Given the description of an element on the screen output the (x, y) to click on. 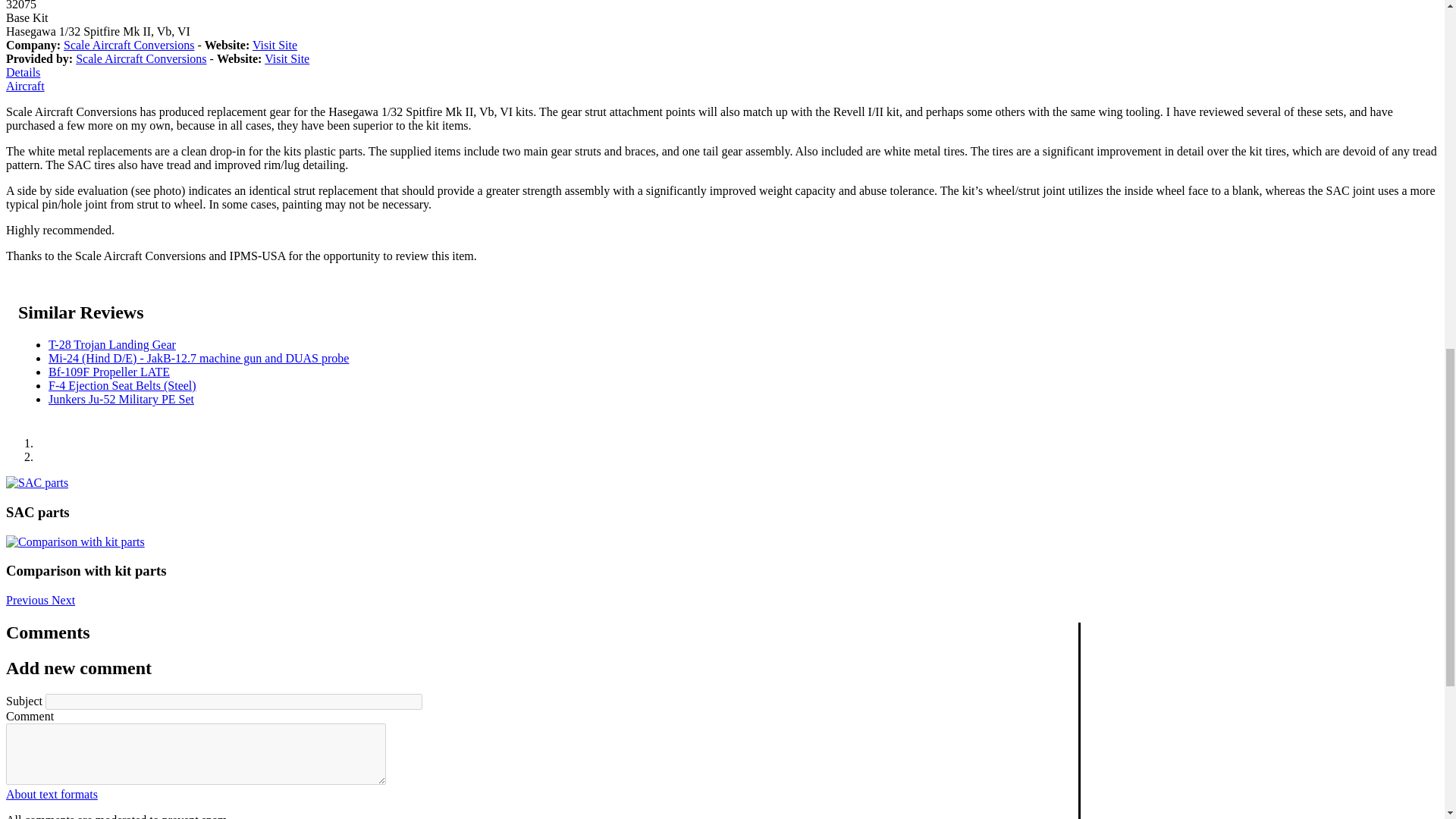
Scale Aircraft Conversions (140, 58)
T-28 Trojan Landing Gear (112, 344)
Scale Aircraft Conversions (128, 44)
Bf-109F Propeller LATE (109, 371)
Details (22, 72)
SAC parts (36, 482)
Junkers Ju-52 Military PE Set (120, 399)
Visit Site (274, 44)
Visit Site (286, 58)
Aircraft (25, 85)
SAC parts (36, 481)
Previous (27, 599)
